Given the description of an element on the screen output the (x, y) to click on. 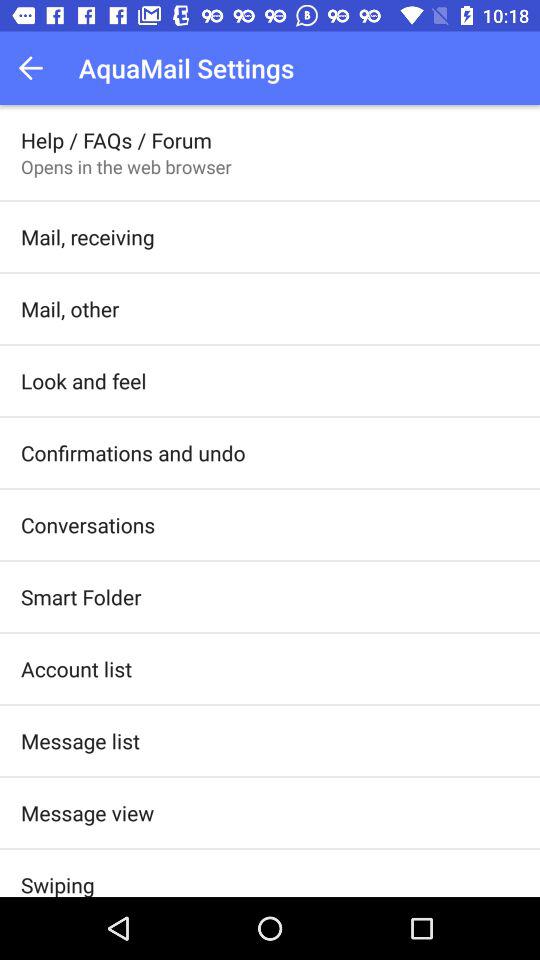
tap item below account list (80, 740)
